Given the description of an element on the screen output the (x, y) to click on. 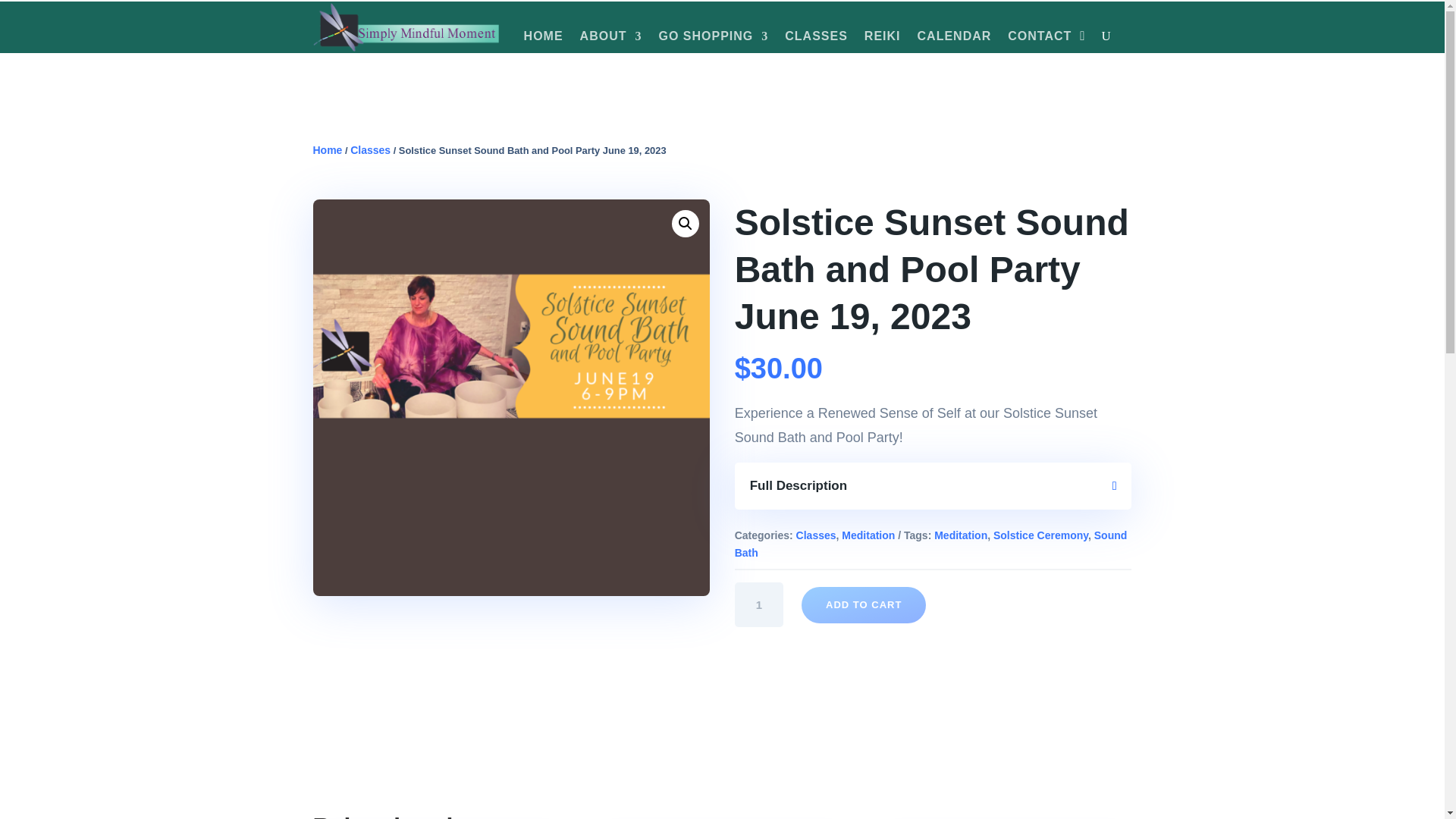
ADD TO CART (864, 605)
REIKI (882, 39)
CLASSES (815, 39)
1 (759, 604)
HOME (543, 39)
Solstice Ceremony (1039, 535)
Sound Bath (930, 543)
CALENDAR (954, 39)
ABOUT (610, 39)
CONTACT (1039, 39)
Classes (815, 535)
Home (327, 150)
GO SHOPPING (713, 39)
Meditation (868, 535)
Dragonfly-Logo-10 (406, 27)
